Given the description of an element on the screen output the (x, y) to click on. 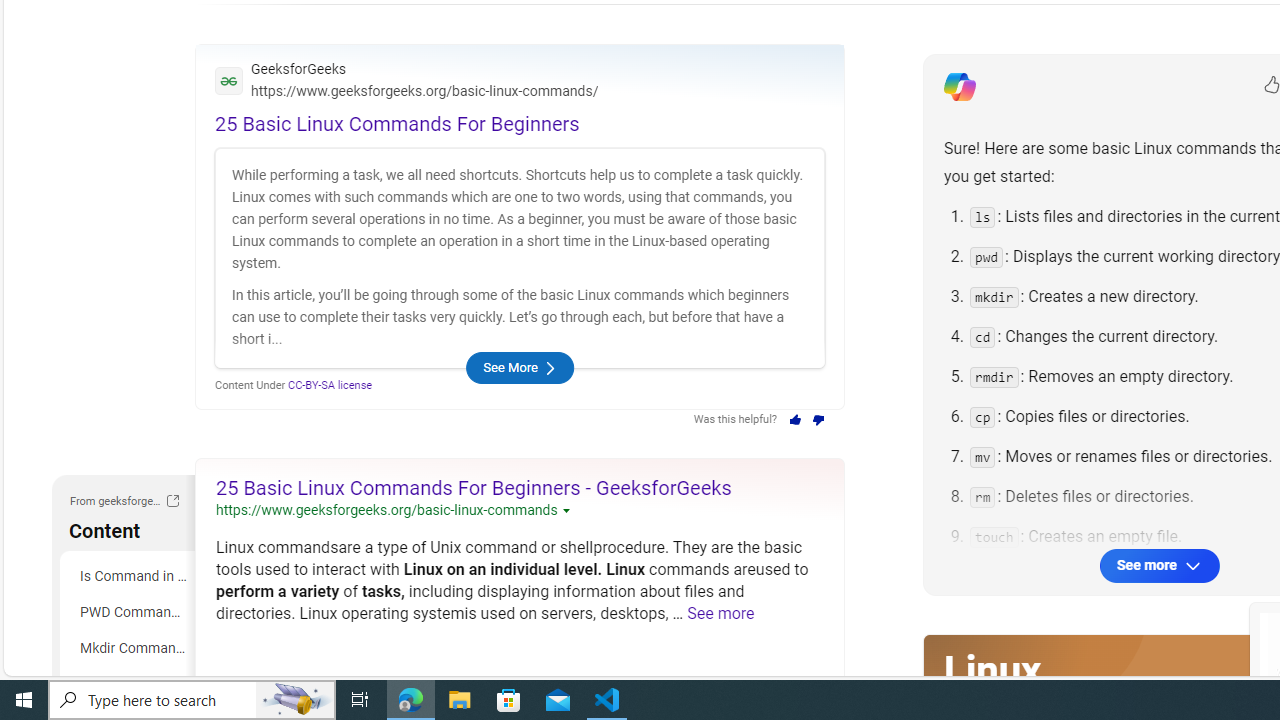
Linux (992, 670)
25 Basic Linux Commands For Beginners - GeeksforGeeks (474, 487)
